Given the description of an element on the screen output the (x, y) to click on. 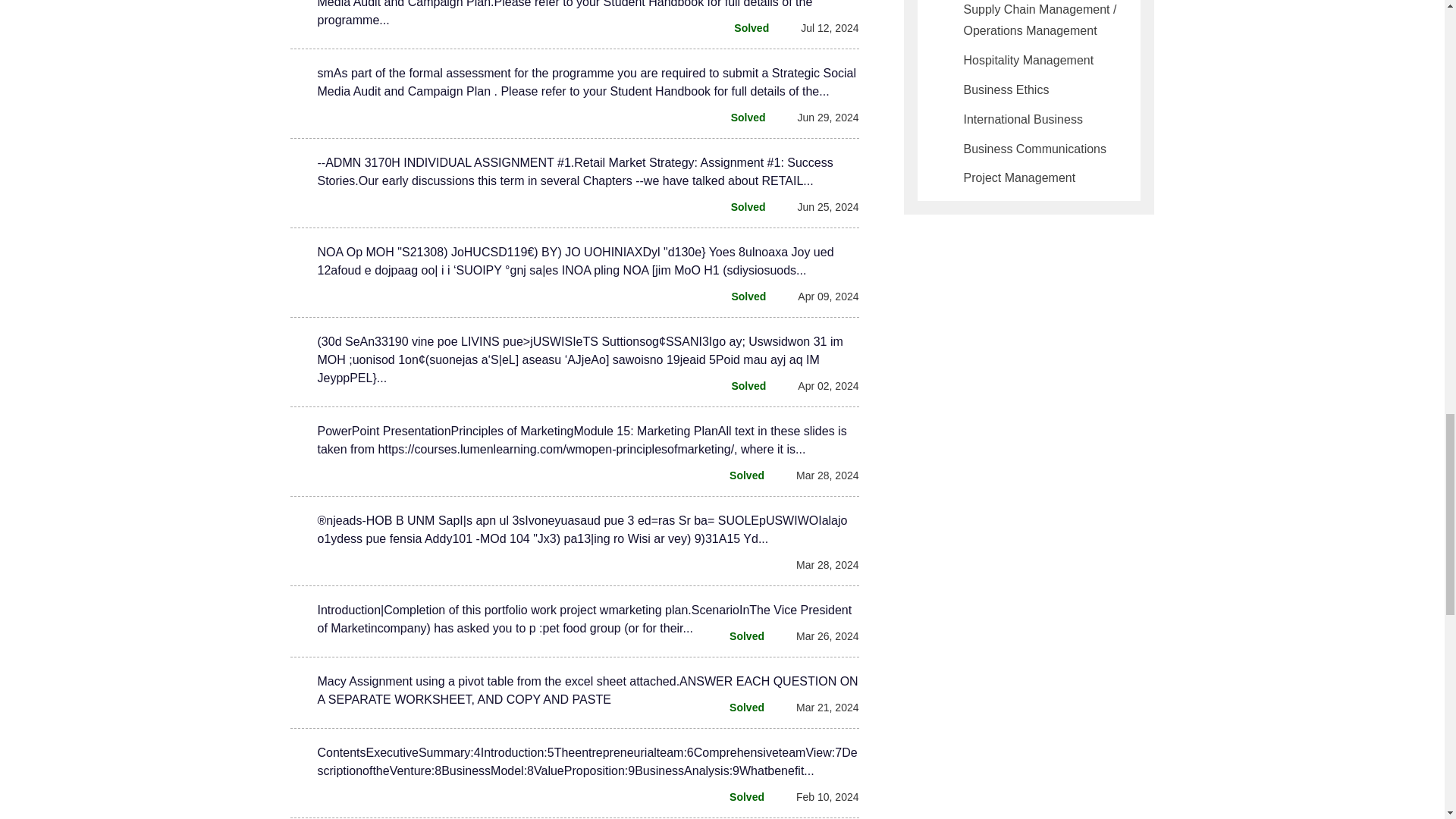
Posted On (819, 296)
solved (739, 207)
solved (738, 707)
Posted On (818, 796)
solved (739, 385)
Posted On (819, 385)
Posted On (818, 565)
Posted On (818, 707)
Posted On (819, 117)
solved (738, 636)
solved (739, 296)
solved (738, 796)
solved (738, 475)
Posted On (819, 207)
Posted On (821, 27)
